Given the description of an element on the screen output the (x, y) to click on. 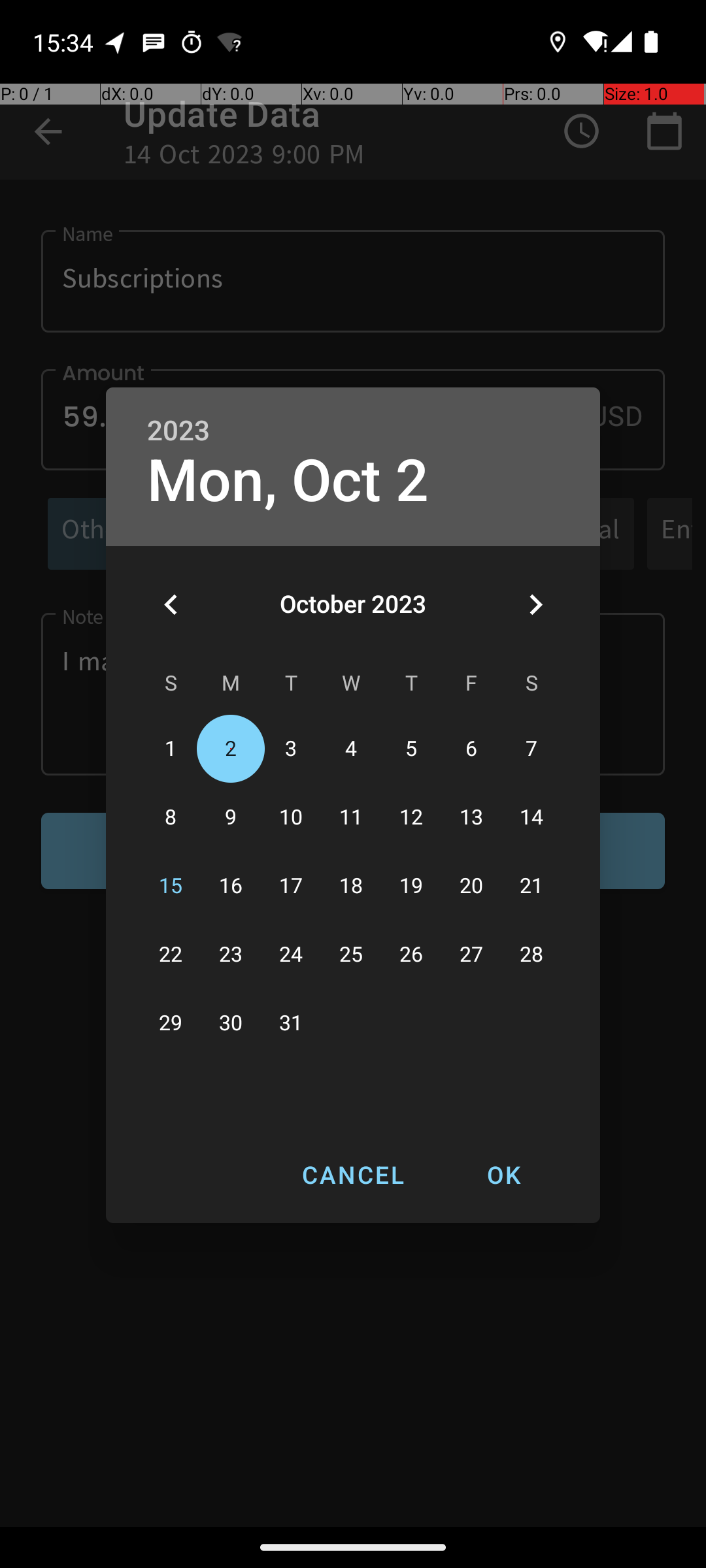
Mon, Oct 2 Element type: android.widget.TextView (287, 480)
